Given the description of an element on the screen output the (x, y) to click on. 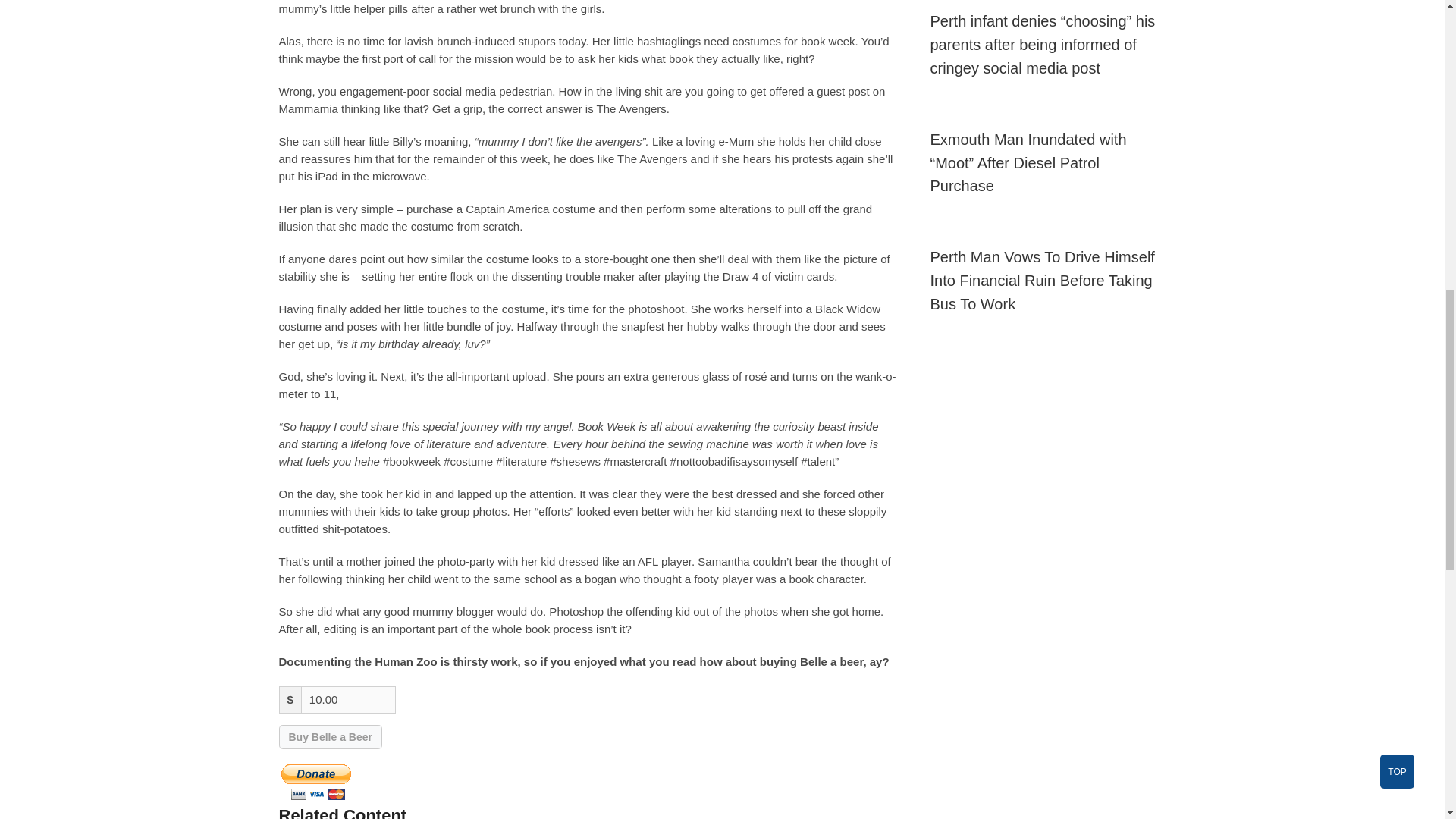
10.00 (348, 699)
